Given the description of an element on the screen output the (x, y) to click on. 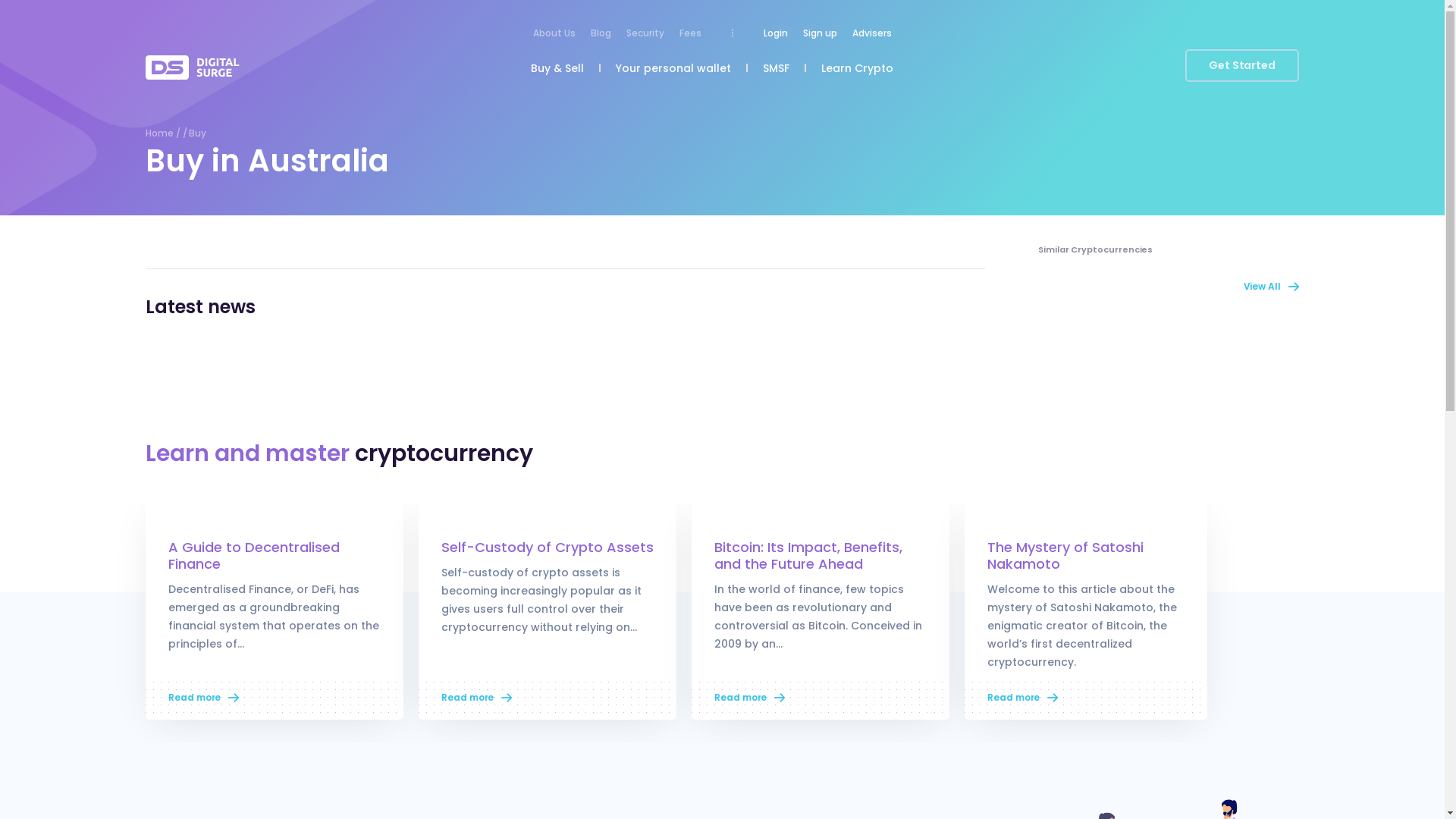
Blog Element type: text (600, 34)
Learn Crypto Element type: text (857, 69)
Your personal wallet Element type: text (673, 69)
Get Started Element type: text (1242, 65)
Advisers Element type: text (871, 34)
Read more Element type: text (1022, 696)
SMSF Element type: text (775, 69)
Security Element type: text (645, 34)
View All Element type: text (1271, 285)
Read more Element type: text (203, 696)
Read more Element type: text (749, 696)
Login Element type: text (775, 34)
About Us Element type: text (554, 34)
Home Element type: text (159, 132)
Sign up Element type: text (820, 34)
Read more Element type: text (476, 696)
Buy Element type: text (197, 132)
Fees Element type: text (690, 34)
Buy & Sell Element type: text (556, 69)
